Given the description of an element on the screen output the (x, y) to click on. 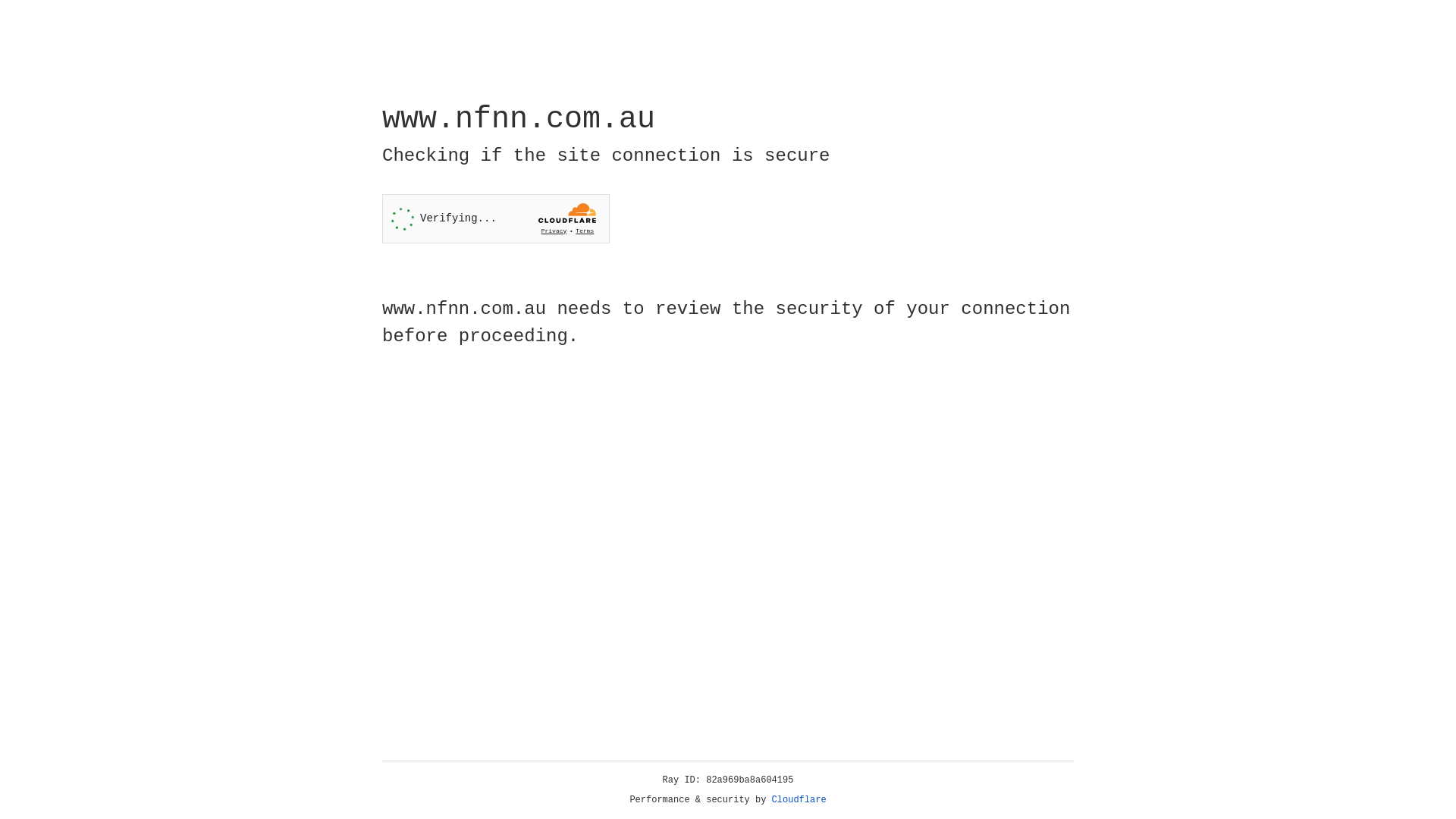
Cloudflare Element type: text (798, 799)
Widget containing a Cloudflare security challenge Element type: hover (495, 218)
